Given the description of an element on the screen output the (x, y) to click on. 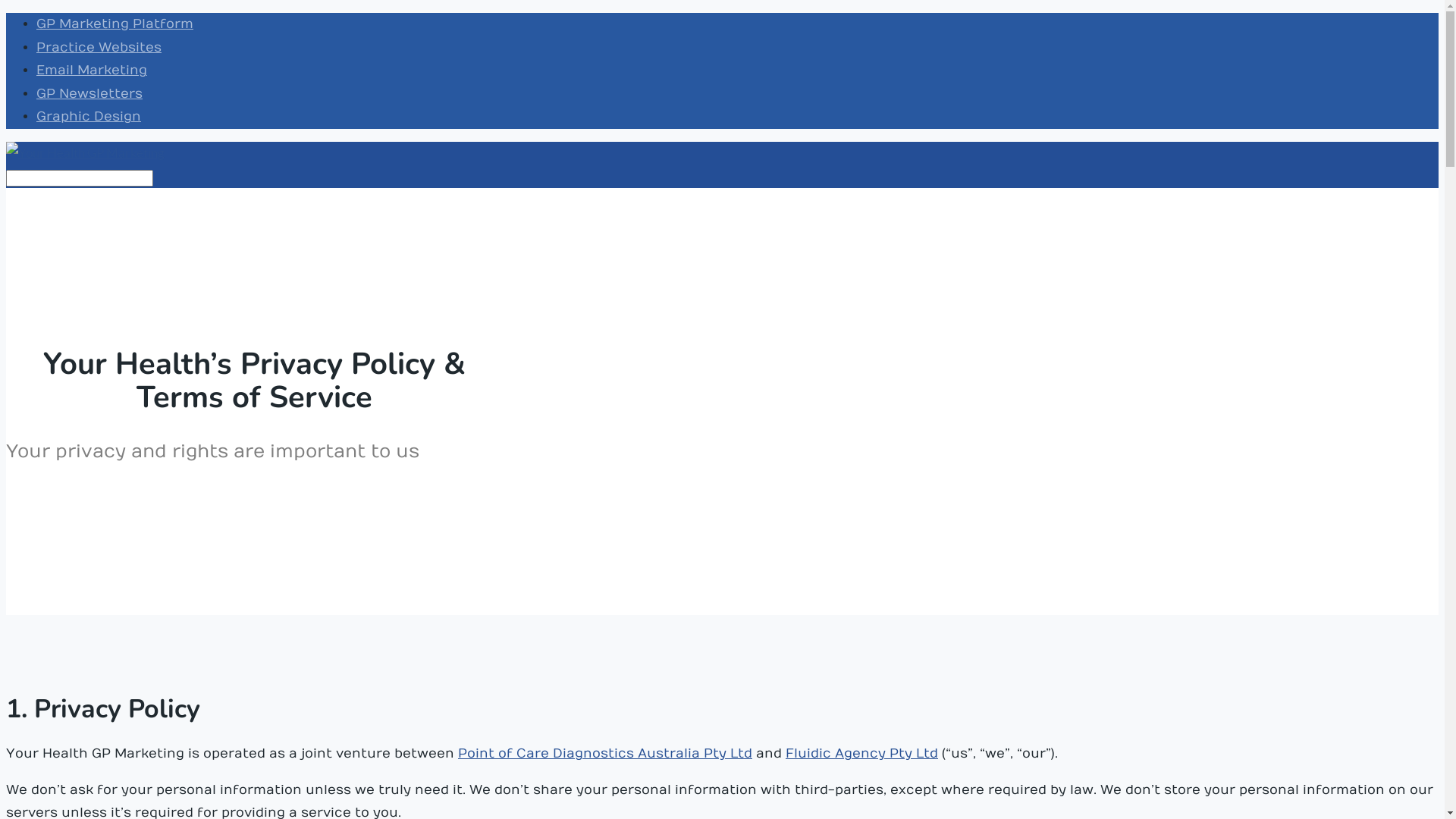
Point of Care Diagnostics Australia Pty Ltd Element type: text (605, 753)
Graphic Design Element type: text (88, 116)
Search for: Element type: hover (79, 177)
Email Marketing Element type: text (91, 70)
Practice Websites Element type: text (98, 47)
GP Newsletters Element type: text (89, 93)
GP Marketing Platform Element type: text (114, 23)
Fluidic Agency Pty Ltd Element type: text (861, 753)
